Given the description of an element on the screen output the (x, y) to click on. 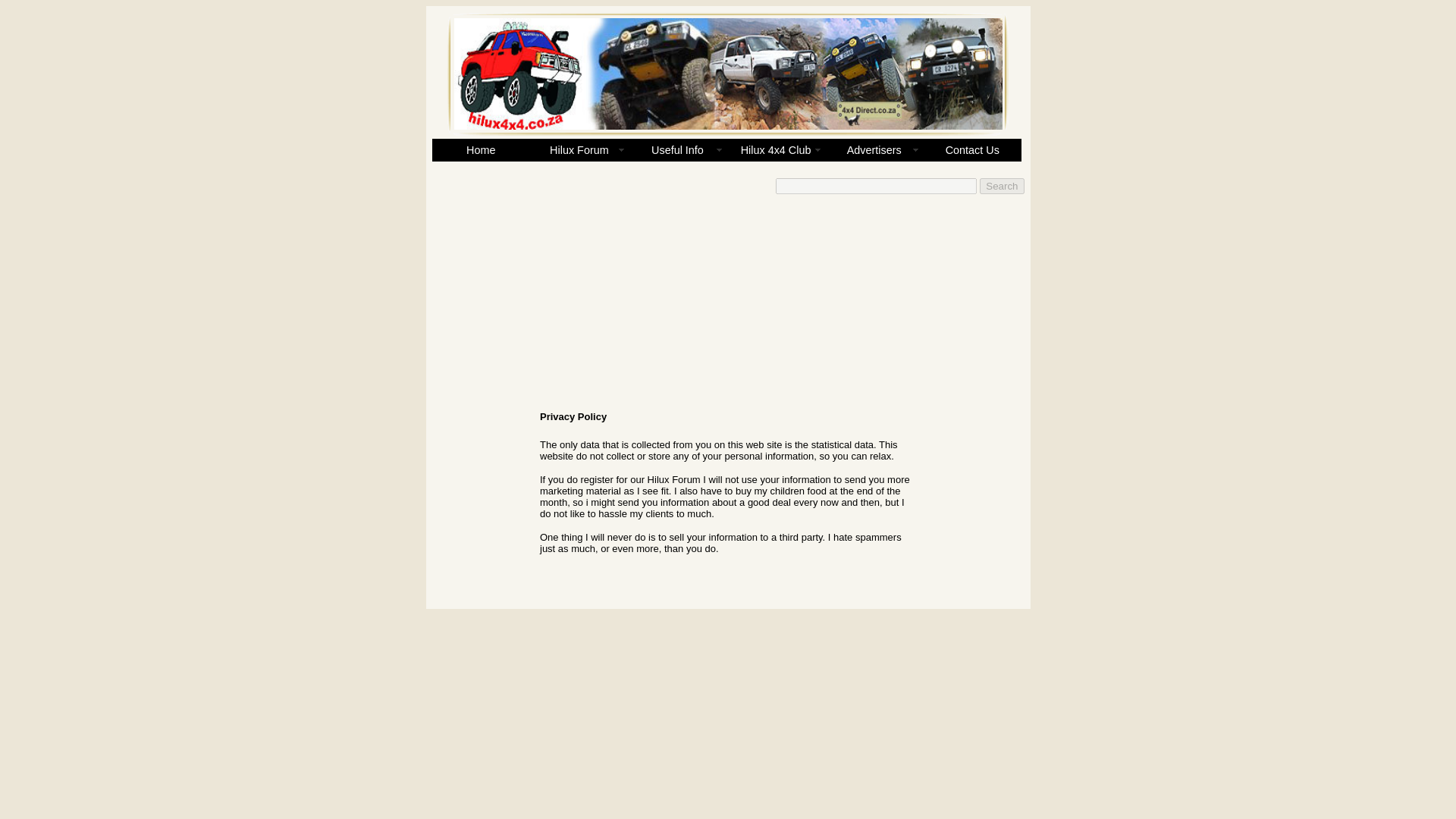
Home (481, 149)
Search (1001, 186)
Hilux Forum (578, 149)
Hilux Forum (578, 149)
